Given the description of an element on the screen output the (x, y) to click on. 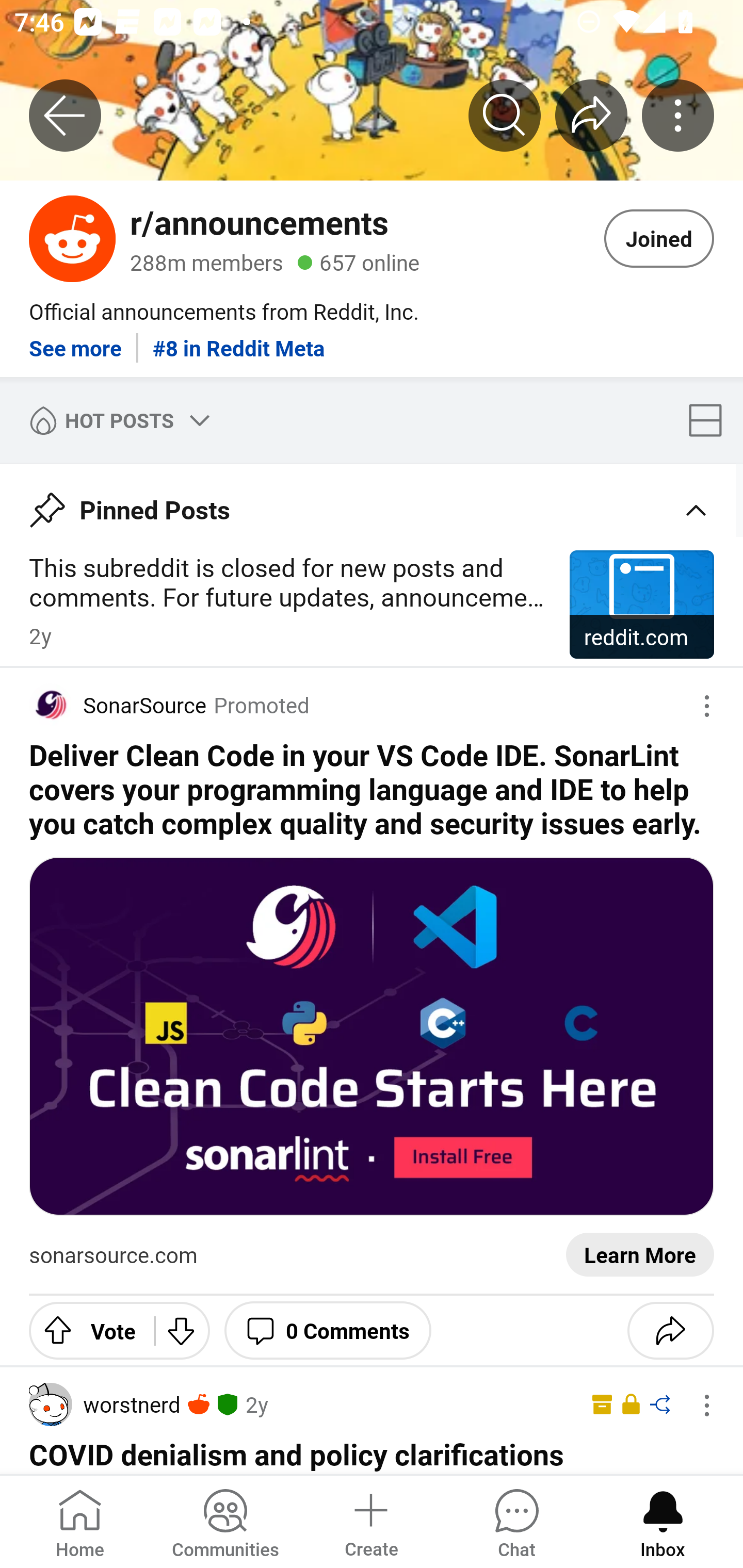
Back (64, 115)
Search r/﻿announcements (504, 115)
Share r/﻿announcements (591, 115)
More community actions (677, 115)
See more (74, 340)
#8 in Reddit Meta (239, 340)
HOT POSTS Sort by Hot posts (115, 420)
Card display (711, 420)
Pin Pinned Posts Caret (371, 503)
Author SonarSource (117, 704)
Image (371, 1035)
sonarsource.com (112, 1255)
Learn More (640, 1255)
Upvote Vote (83, 1330)
Downvote (181, 1330)
0 Comments (327, 1330)
Share (670, 1330)
Author worstnerd (104, 1403)
Archived Locked Crosspost (626, 1404)
Home (80, 1520)
Communities (225, 1520)
Create a post Create (370, 1520)
Chat (516, 1520)
Inbox (662, 1520)
